Given the description of an element on the screen output the (x, y) to click on. 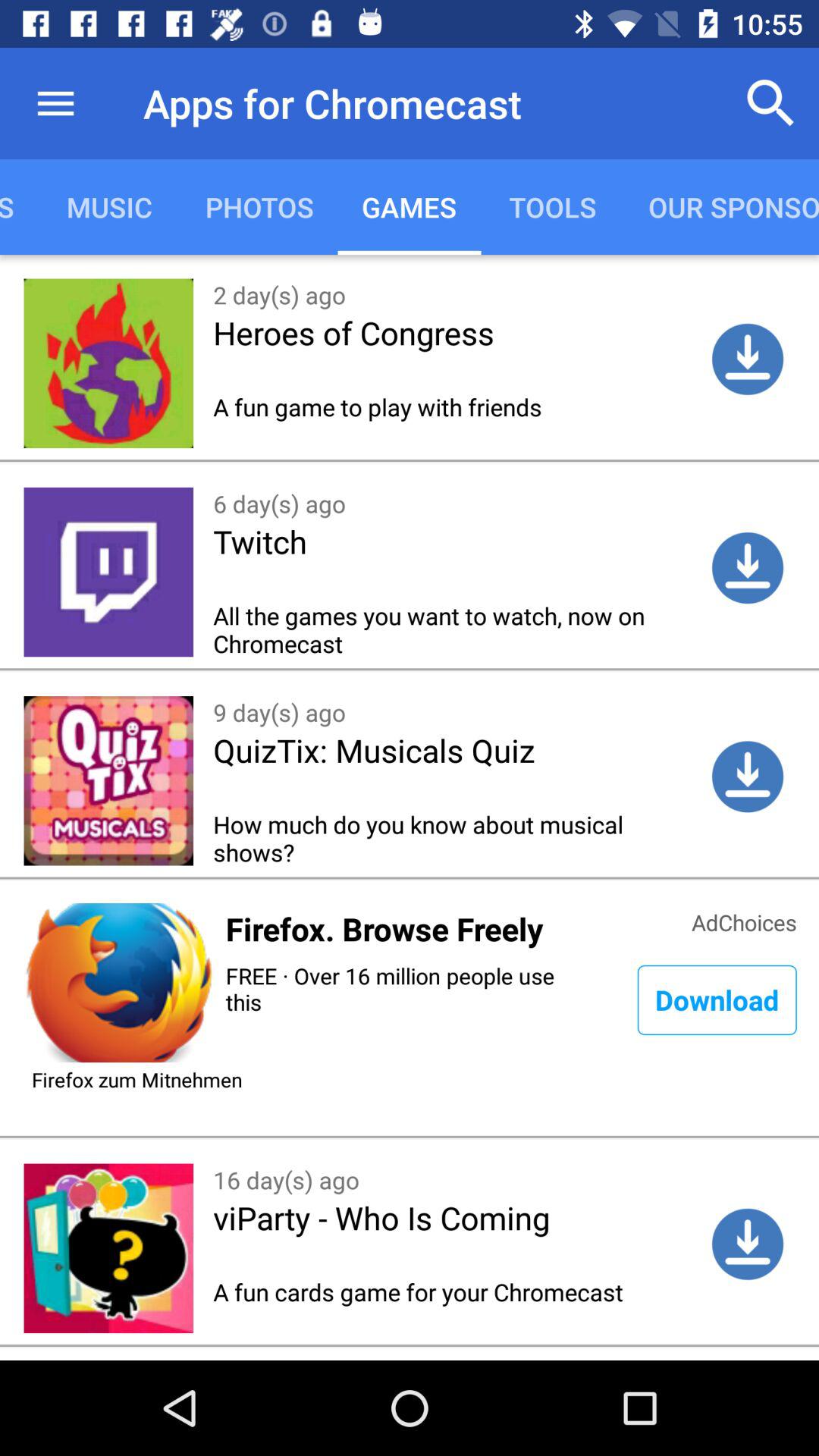
jump to adchoices icon (743, 921)
